Given the description of an element on the screen output the (x, y) to click on. 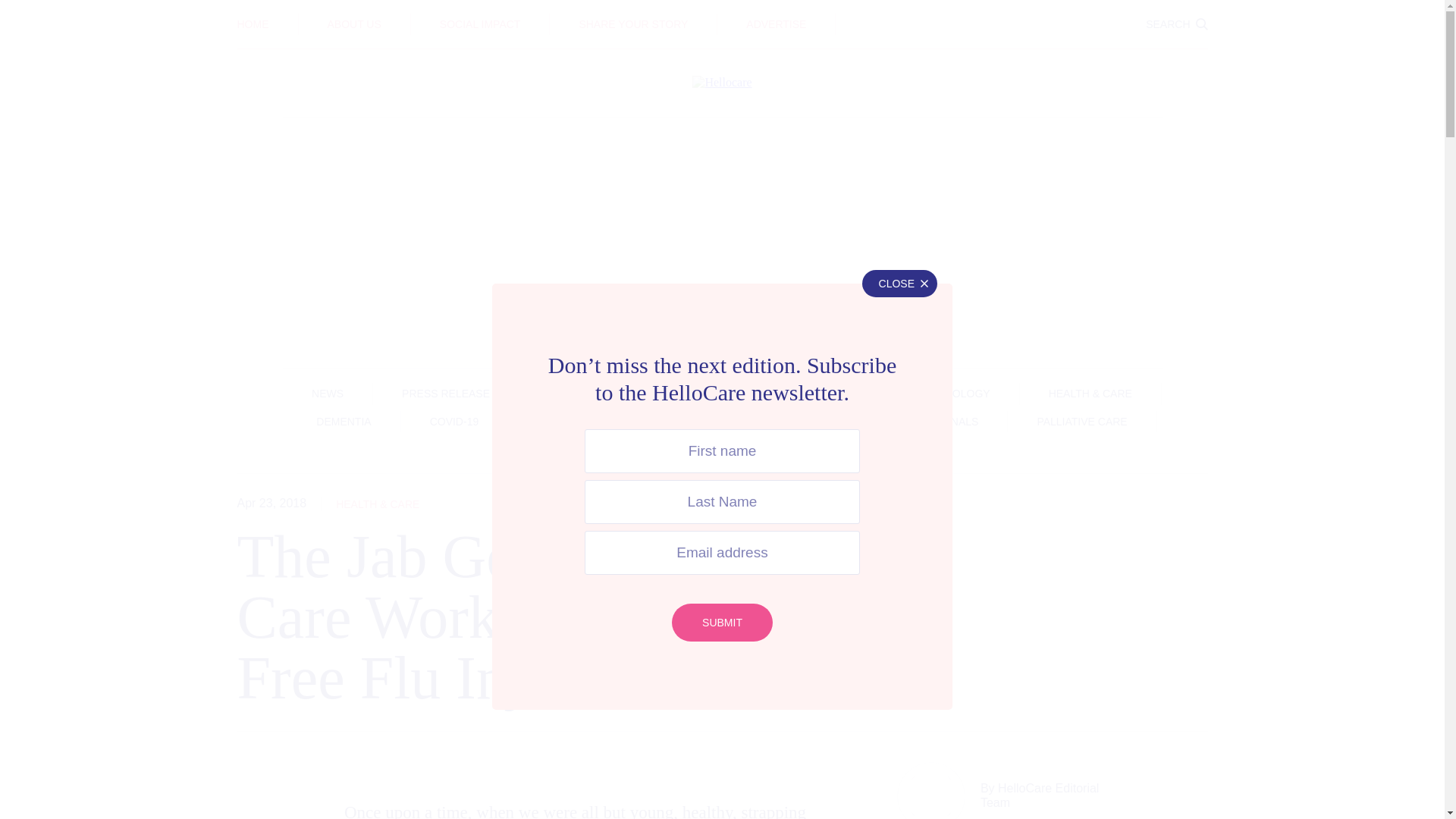
SOCIAL IMPACT (480, 24)
SEARCH (1176, 24)
ABOUT US (354, 24)
HOME (251, 24)
SHARE YOUR STORY (632, 24)
Submit (722, 622)
EDUCATION (721, 13)
ADVERTISE (775, 24)
